Given the description of an element on the screen output the (x, y) to click on. 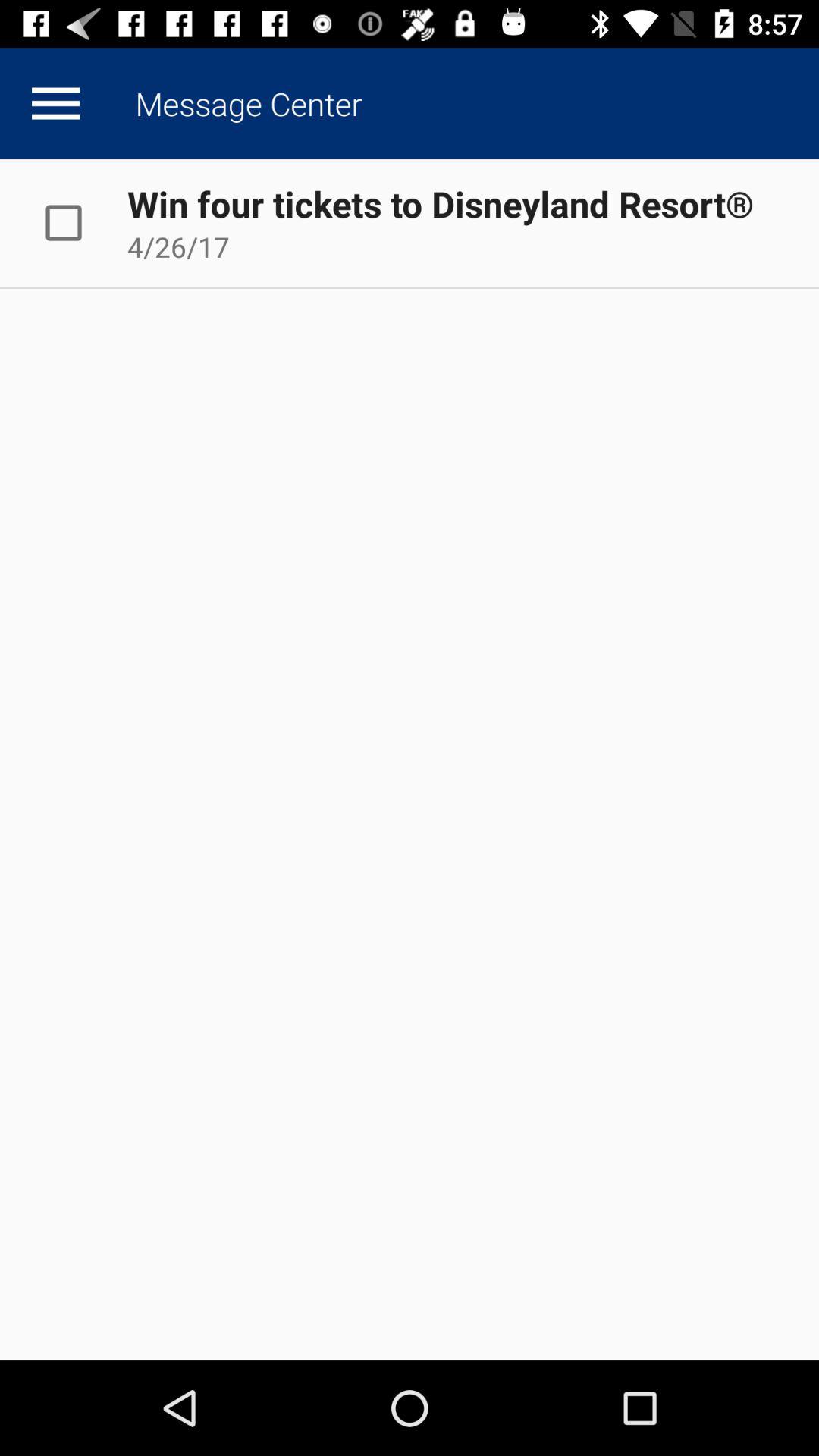
choose item next to the win four tickets item (79, 222)
